Given the description of an element on the screen output the (x, y) to click on. 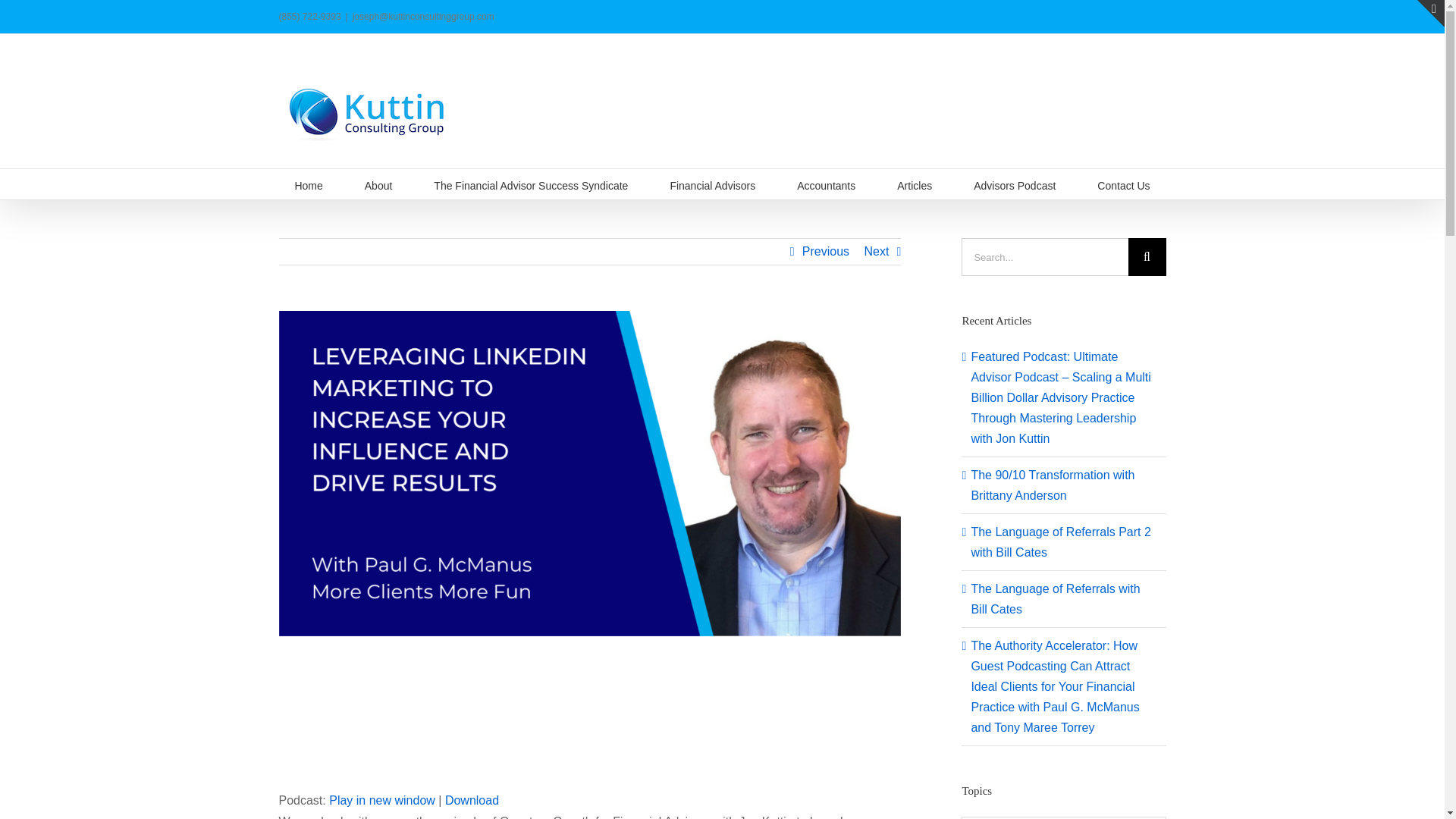
Contact Us (1123, 183)
Play in new window (382, 799)
Articles (913, 183)
Download (472, 799)
Home (307, 183)
Accountants (826, 183)
Play in new window (382, 799)
About (379, 183)
Blubrry Podcast Player (590, 721)
Download (472, 799)
Financial Advisors (712, 183)
Previous (825, 251)
Advisors Podcast (1014, 183)
The Financial Advisor Success Syndicate (530, 183)
